Given the description of an element on the screen output the (x, y) to click on. 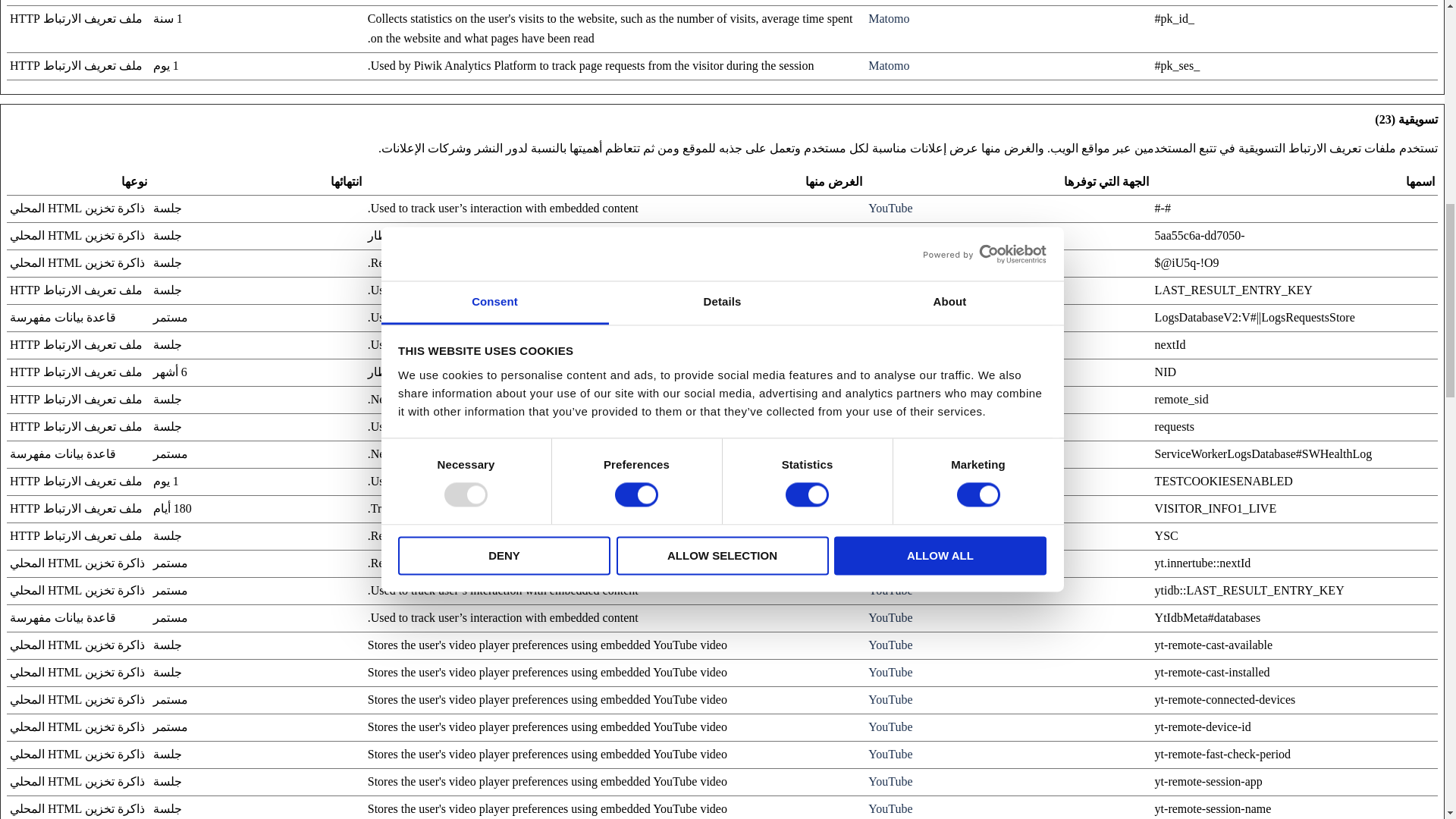
YouTube (889, 671)
YouTube (889, 481)
Matomo (887, 65)
YouTube (889, 453)
YouTube (889, 753)
YouTube (889, 726)
YouTube (889, 808)
YouTube (889, 644)
YouTube (889, 207)
YouTube (889, 508)
